Given the description of an element on the screen output the (x, y) to click on. 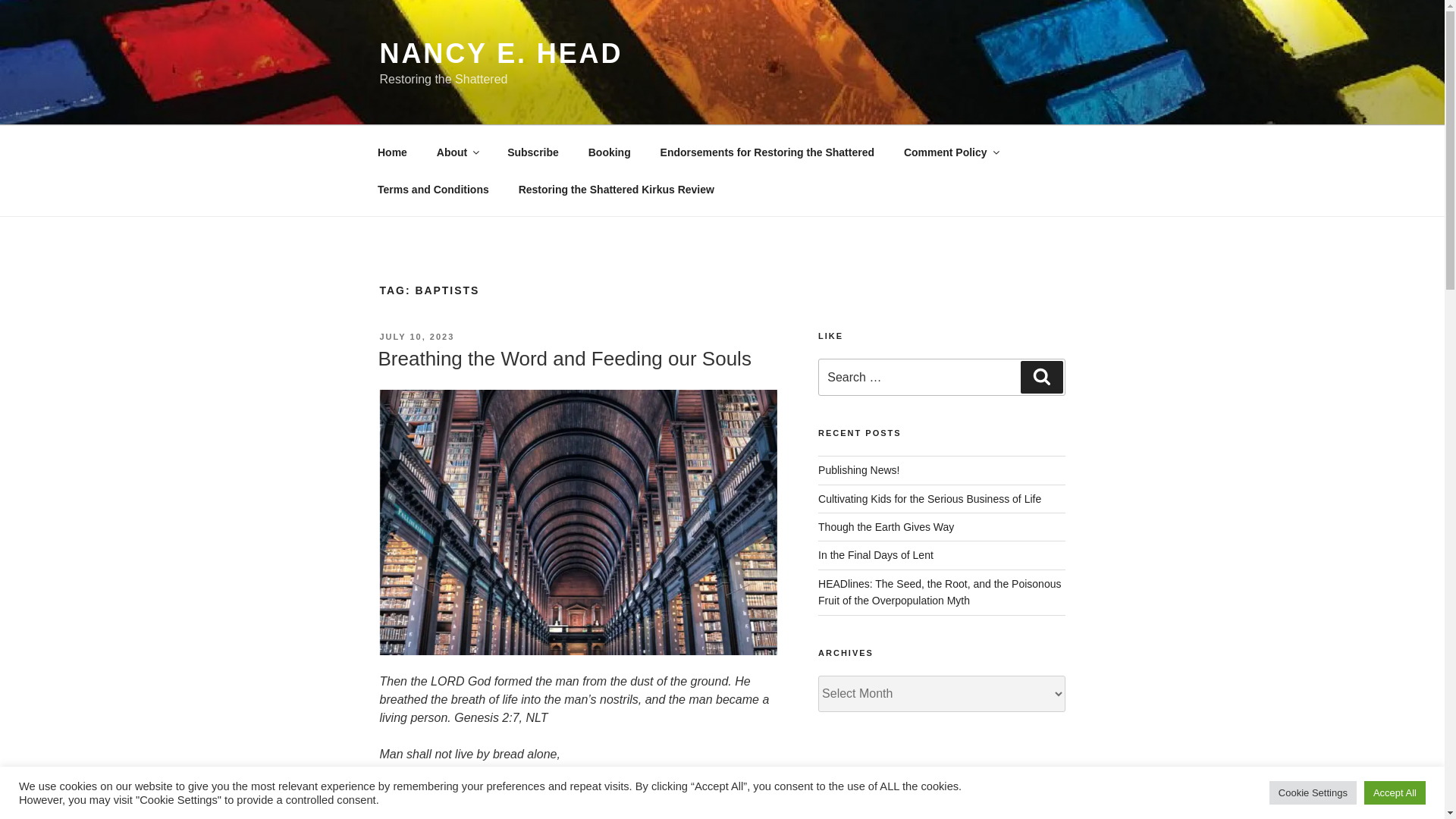
Comment Policy (949, 151)
Booking (609, 151)
In the Final Days of Lent (875, 554)
Accept All (1394, 792)
JULY 10, 2023 (416, 336)
Cultivating Kids for the Serious Business of Life (929, 499)
Subscribe (533, 151)
Endorsements for Restoring the Shattered (766, 151)
Search (1041, 377)
Breathing the Word and Feeding our Souls (564, 358)
Publishing News! (858, 469)
Cookie Settings (1312, 792)
About (456, 151)
NANCY E. HEAD (500, 52)
